Given the description of an element on the screen output the (x, y) to click on. 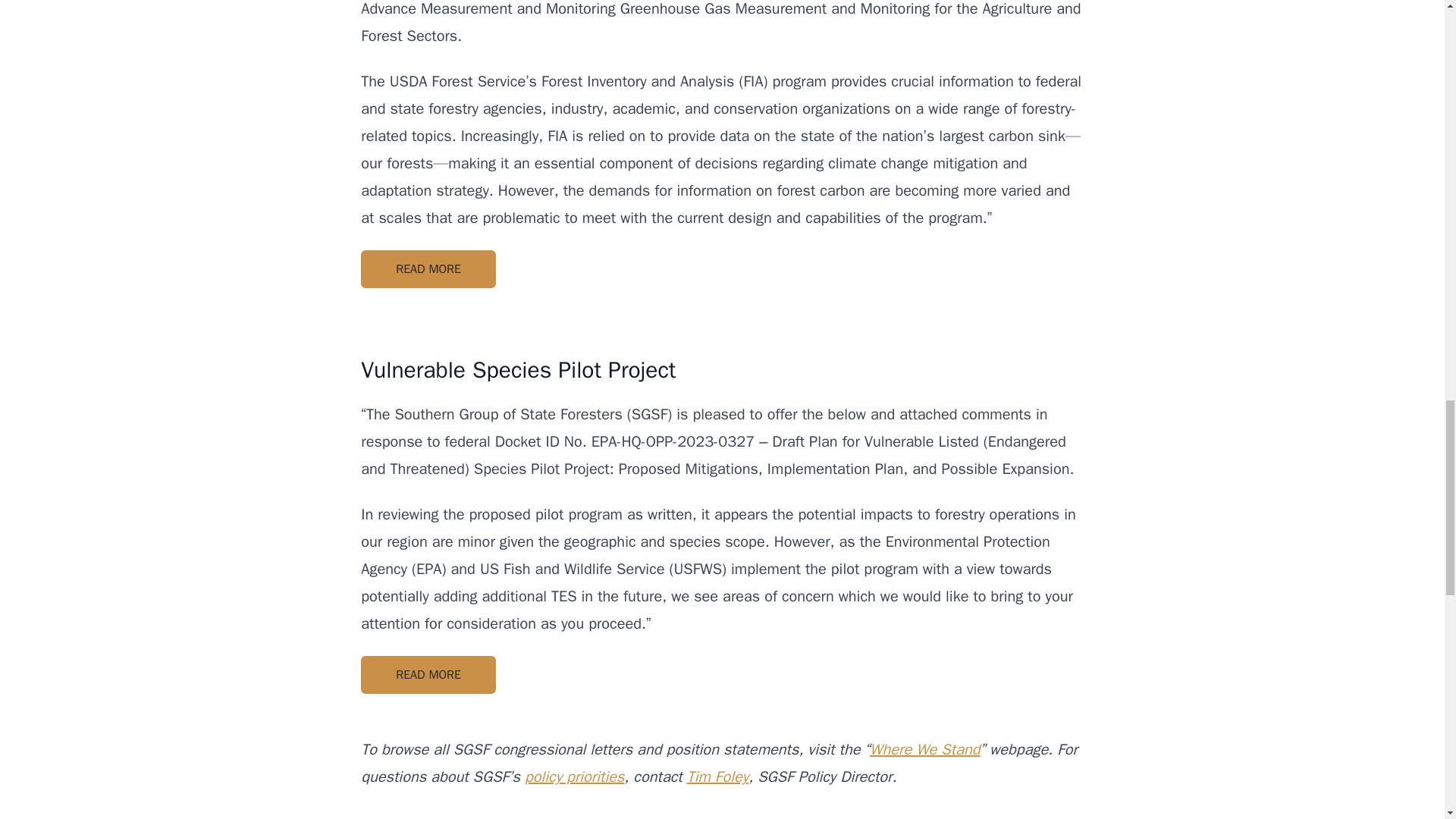
Tim Foley (718, 776)
READ MORE (428, 269)
policy priorities (574, 776)
Where We Stand (924, 749)
READ MORE (428, 674)
